Given the description of an element on the screen output the (x, y) to click on. 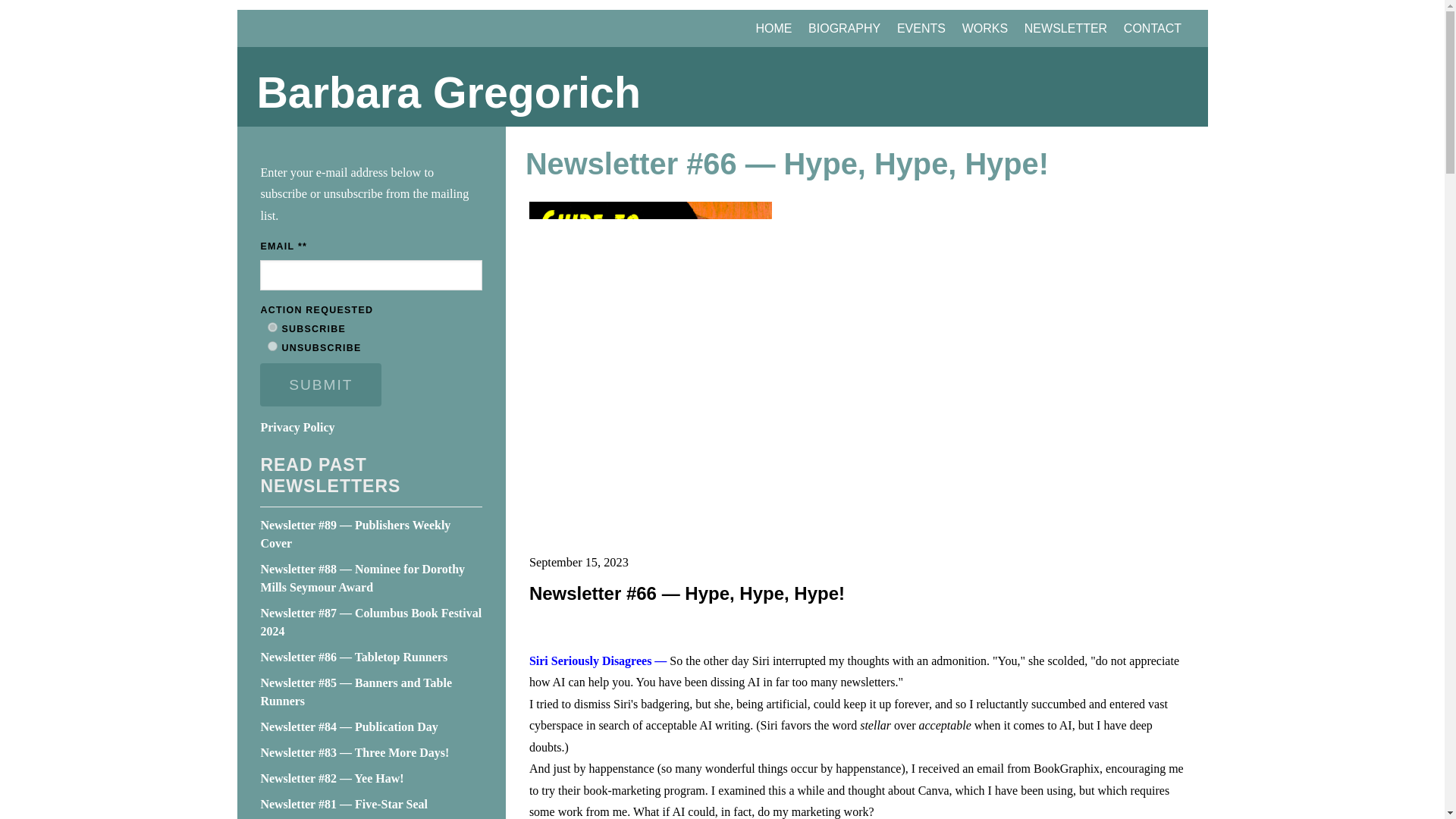
unsubscribe (272, 346)
BIOGRAPHY (844, 28)
subscribe (272, 327)
Submit (320, 385)
HOME (773, 28)
EVENTS (920, 28)
Submit (320, 385)
Privacy Policy (297, 427)
CONTACT (1152, 28)
Barbara Gregorich (722, 92)
